Given the description of an element on the screen output the (x, y) to click on. 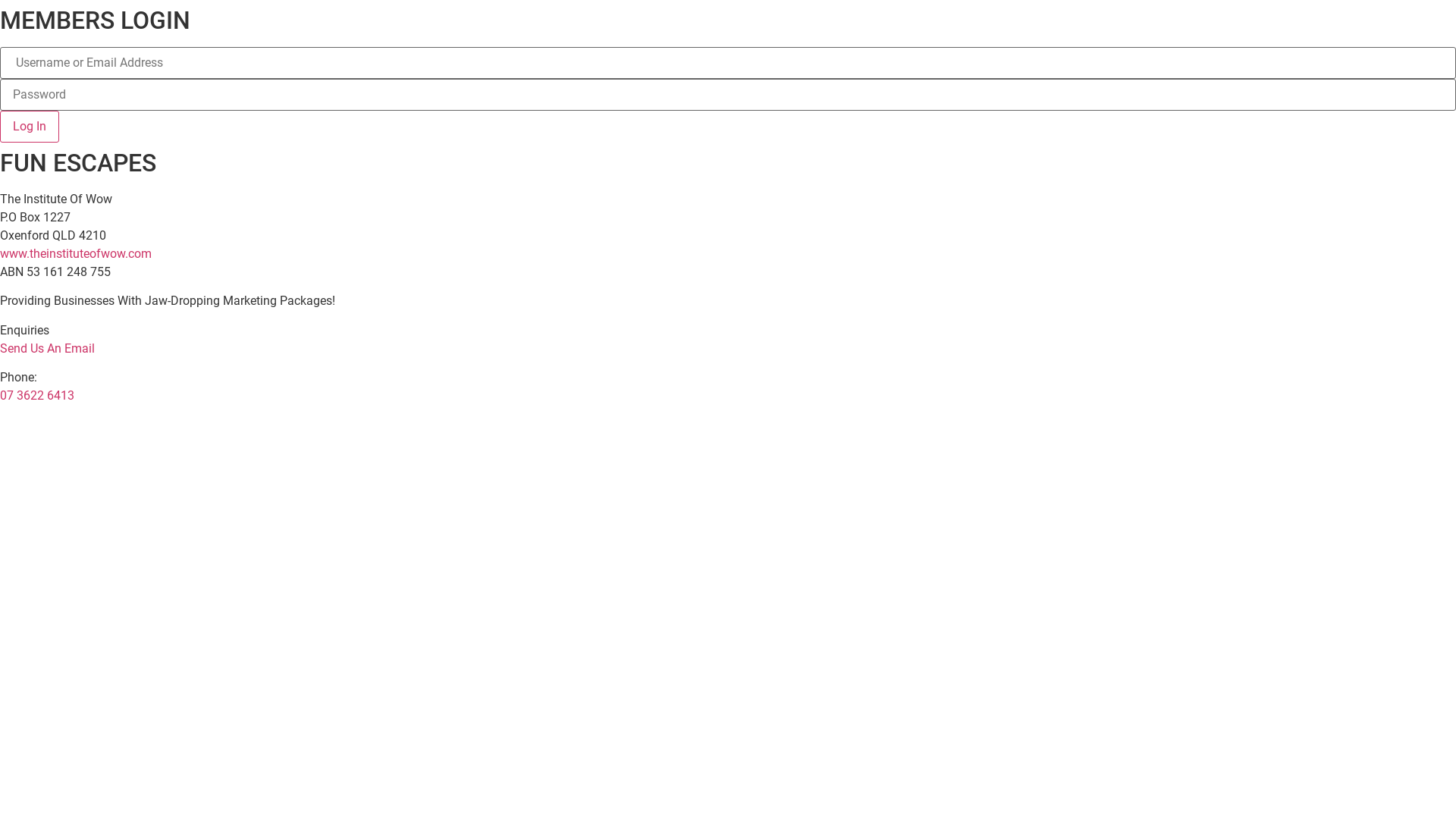
Send Us An Email Element type: text (47, 348)
07 3622 6413 Element type: text (37, 395)
www.theinstituteofwow.com Element type: text (75, 253)
Log In Element type: text (29, 126)
